Given the description of an element on the screen output the (x, y) to click on. 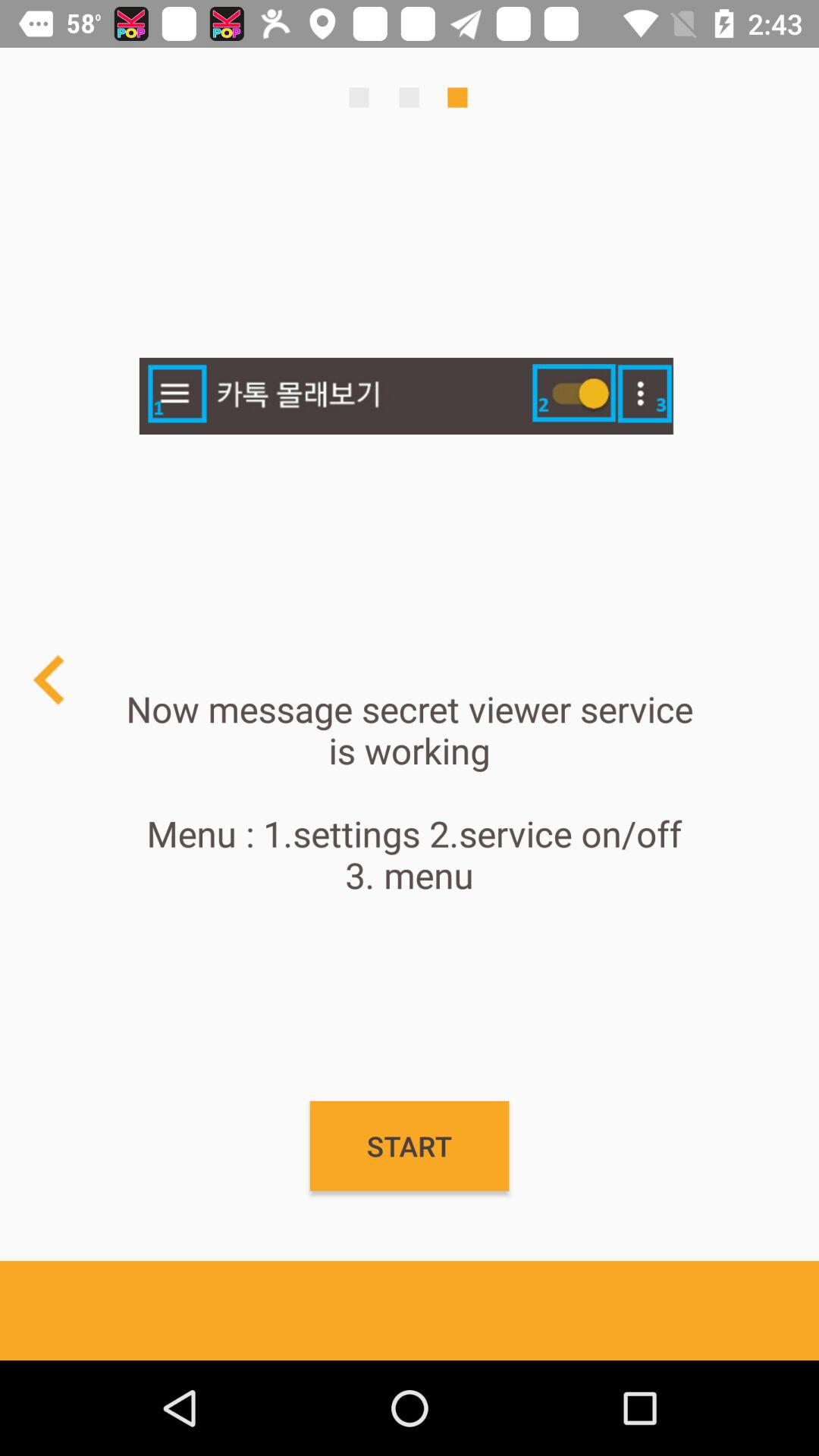
previous page (49, 679)
